Given the description of an element on the screen output the (x, y) to click on. 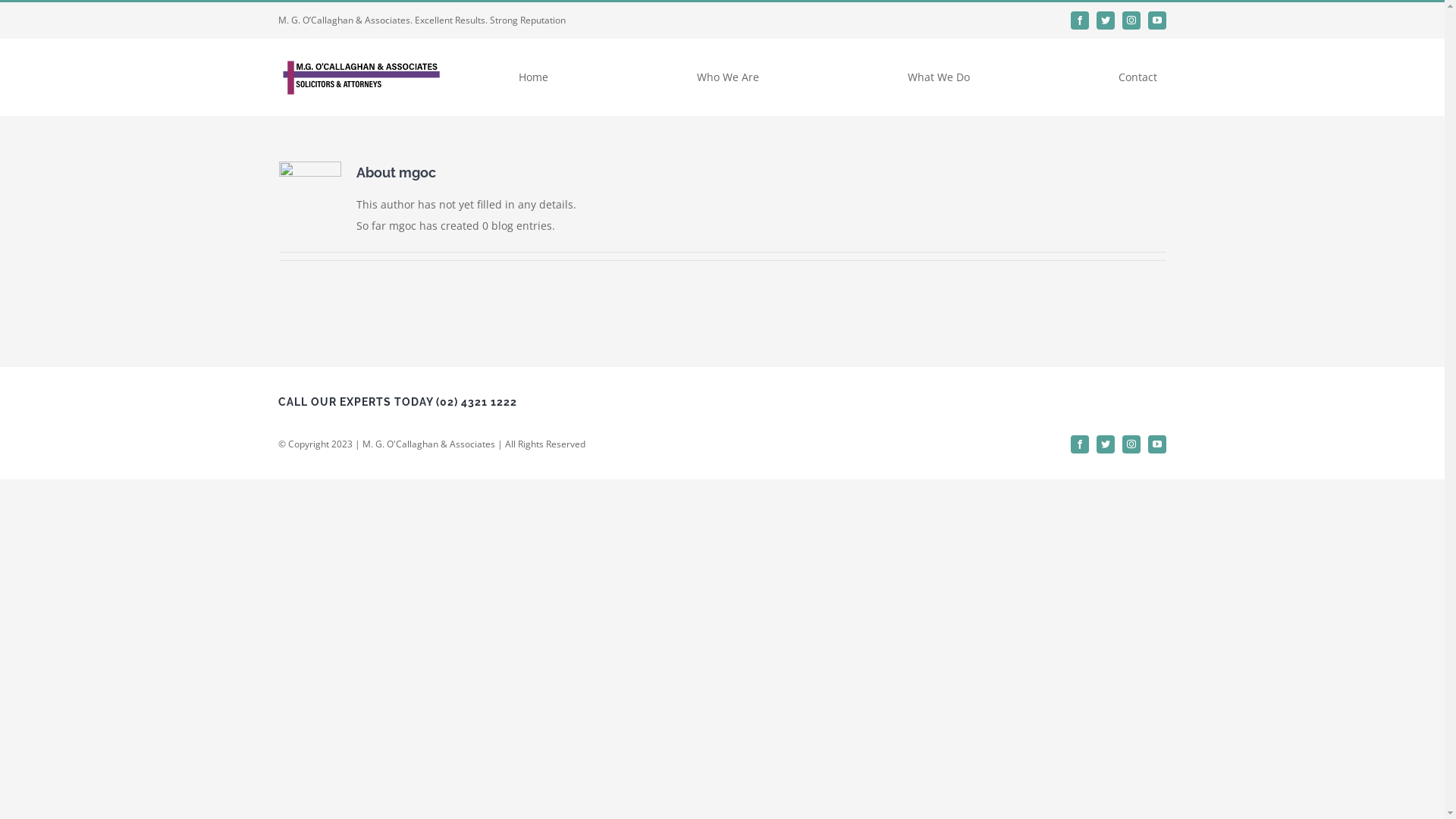
Home Element type: text (533, 77)
What We Do Element type: text (938, 77)
Who We Are Element type: text (727, 77)
Contact Element type: text (1136, 77)
